Given the description of an element on the screen output the (x, y) to click on. 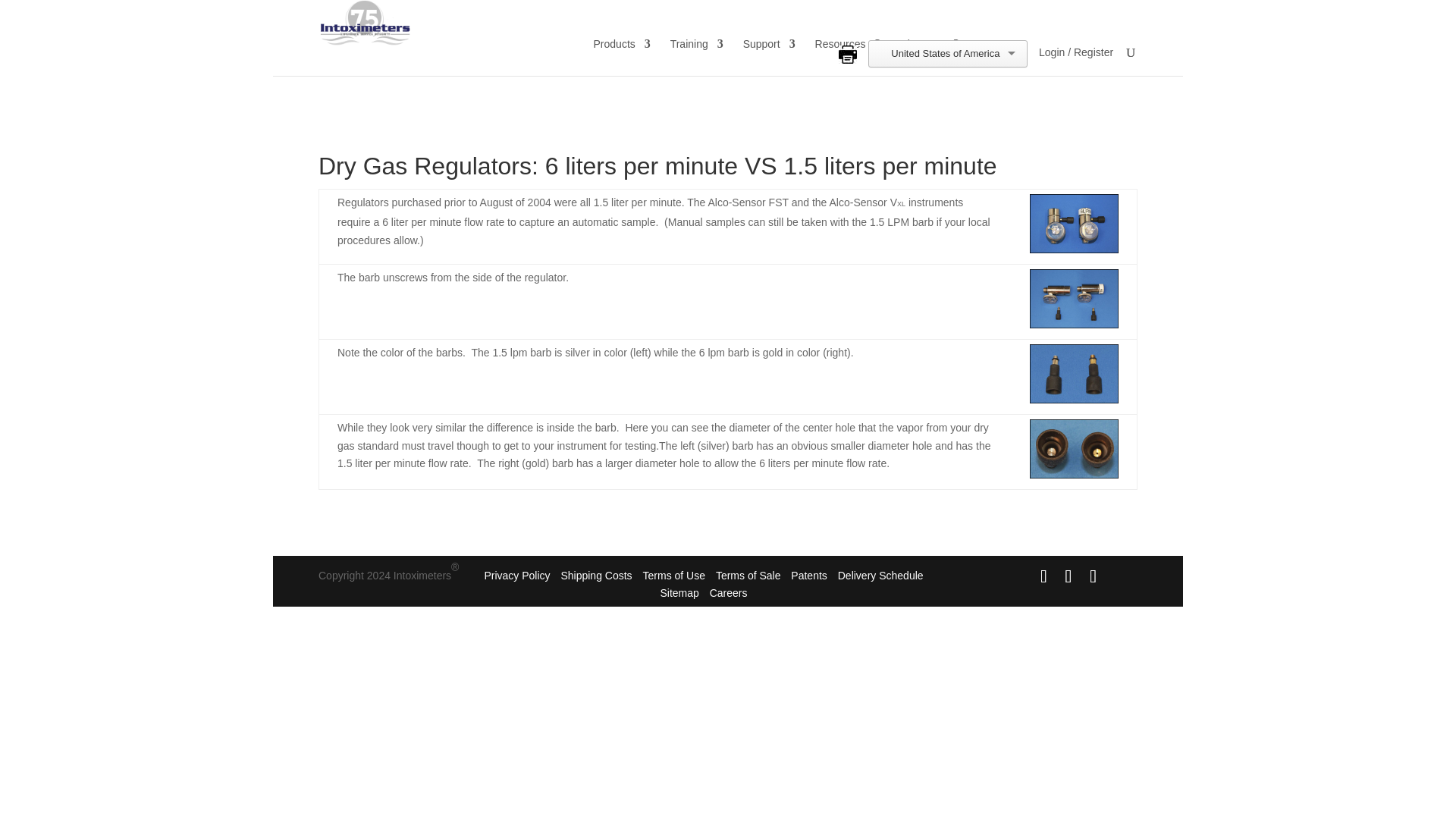
Training (696, 54)
Products (622, 54)
Support (768, 54)
